Given the description of an element on the screen output the (x, y) to click on. 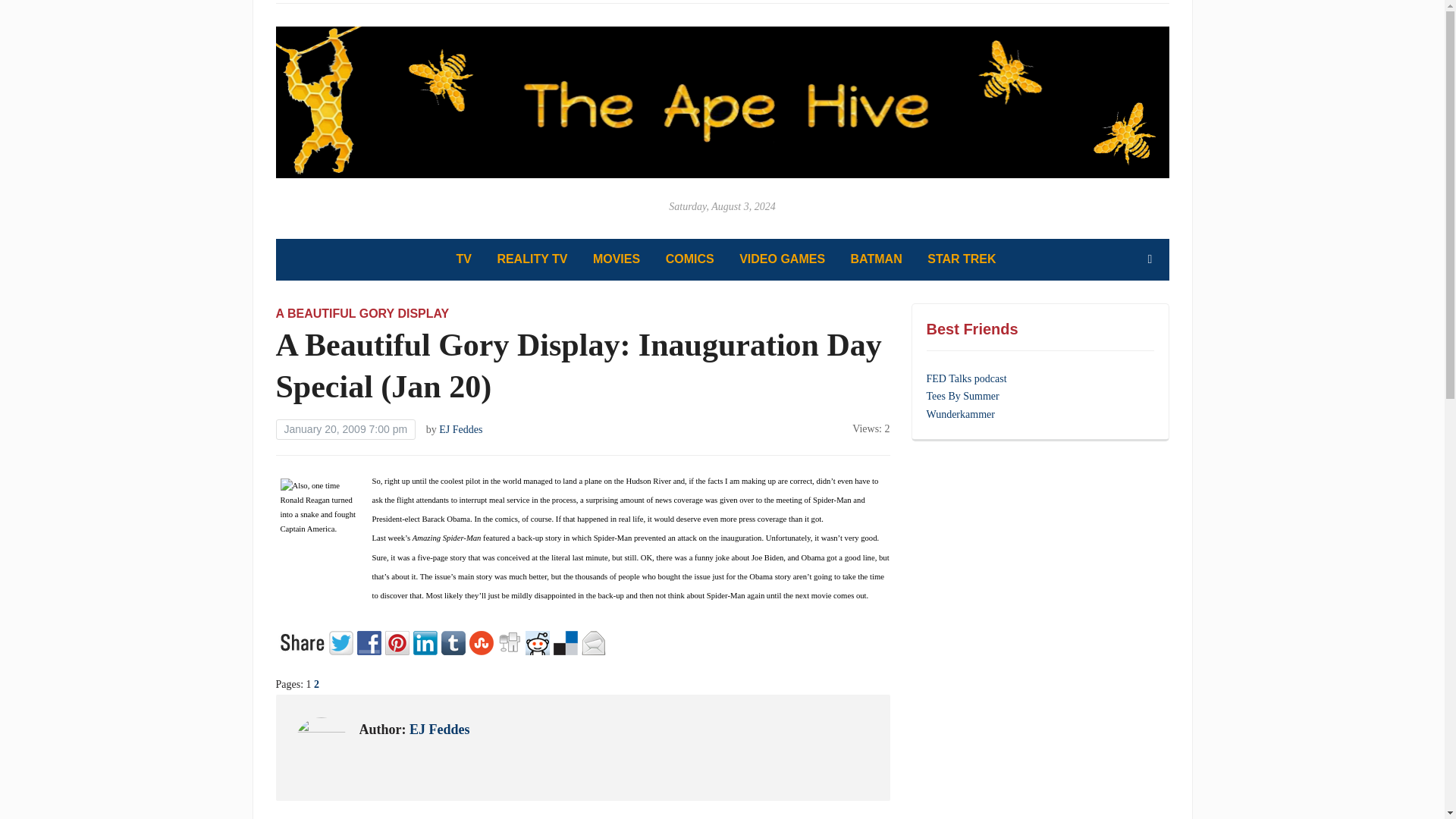
StumbleUpon (482, 641)
EJ Feddes (460, 429)
Twitter (342, 641)
Facebook (370, 641)
Reddit (538, 641)
Wunderkammer (960, 414)
Linkedin (426, 641)
COMICS (689, 259)
EJ Feddes (439, 729)
Digg (511, 641)
MOVIES (616, 259)
Search (1149, 259)
A BEAUTIFUL GORY DISPLAY (362, 313)
Tumblr (454, 641)
FED Talks podcast (966, 378)
